Given the description of an element on the screen output the (x, y) to click on. 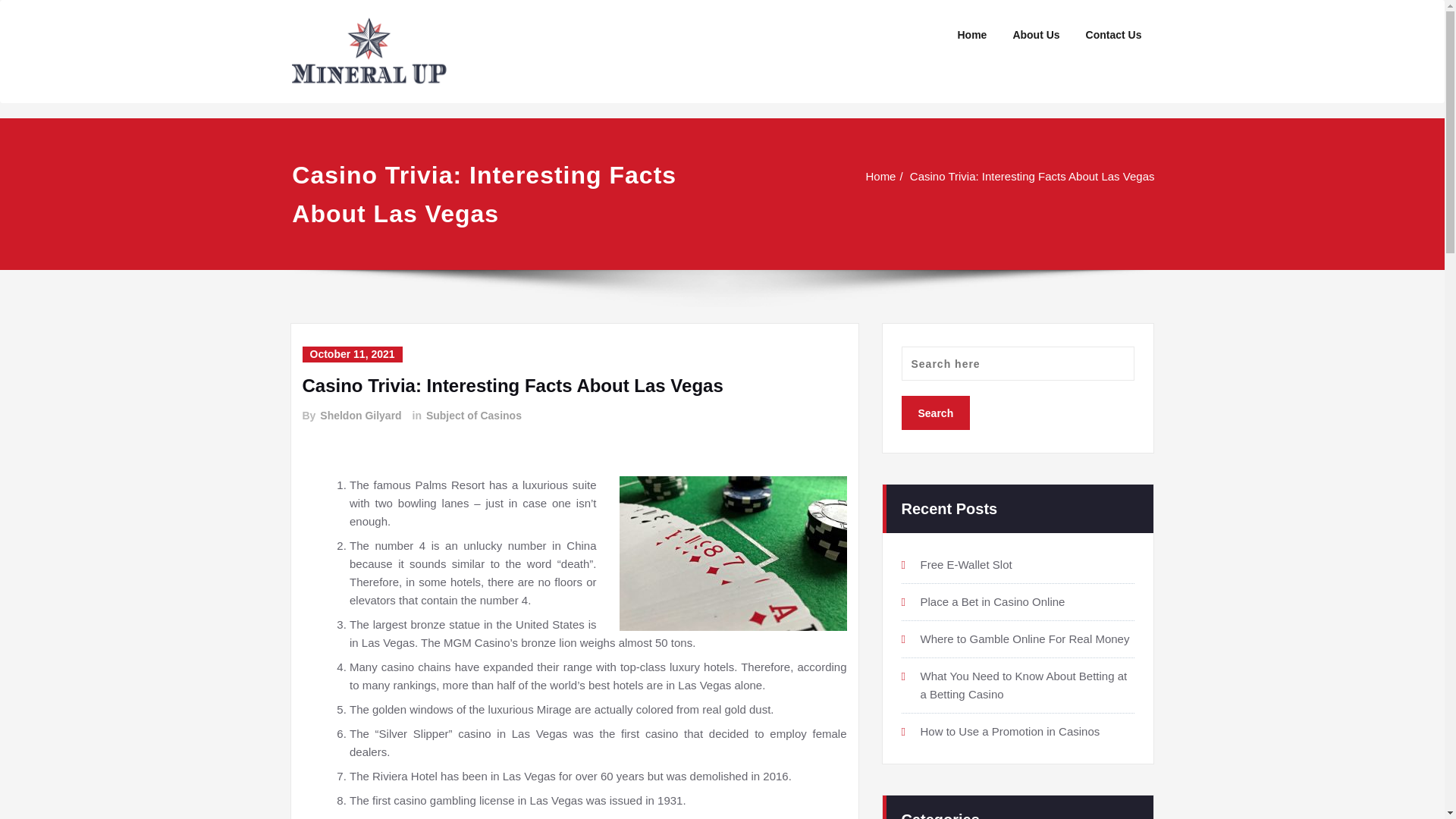
Search (935, 406)
Place a Bet in Casino Online (992, 596)
Sheldon Gilyard (359, 415)
Subject of Casinos (473, 415)
Mineral UP (545, 25)
Casino Trivia: Interesting Facts About Las Vegas (1044, 175)
Search (935, 412)
Home (904, 175)
Search (935, 412)
Where to Gamble Online For Real Money (1024, 634)
October 11, 2021 (351, 354)
Contact Us (1113, 34)
What You Need to Know About Betting at a Betting Casino (1023, 680)
How to Use a Promotion in Casinos (1010, 727)
Free E-Wallet Slot (965, 558)
